Given the description of an element on the screen output the (x, y) to click on. 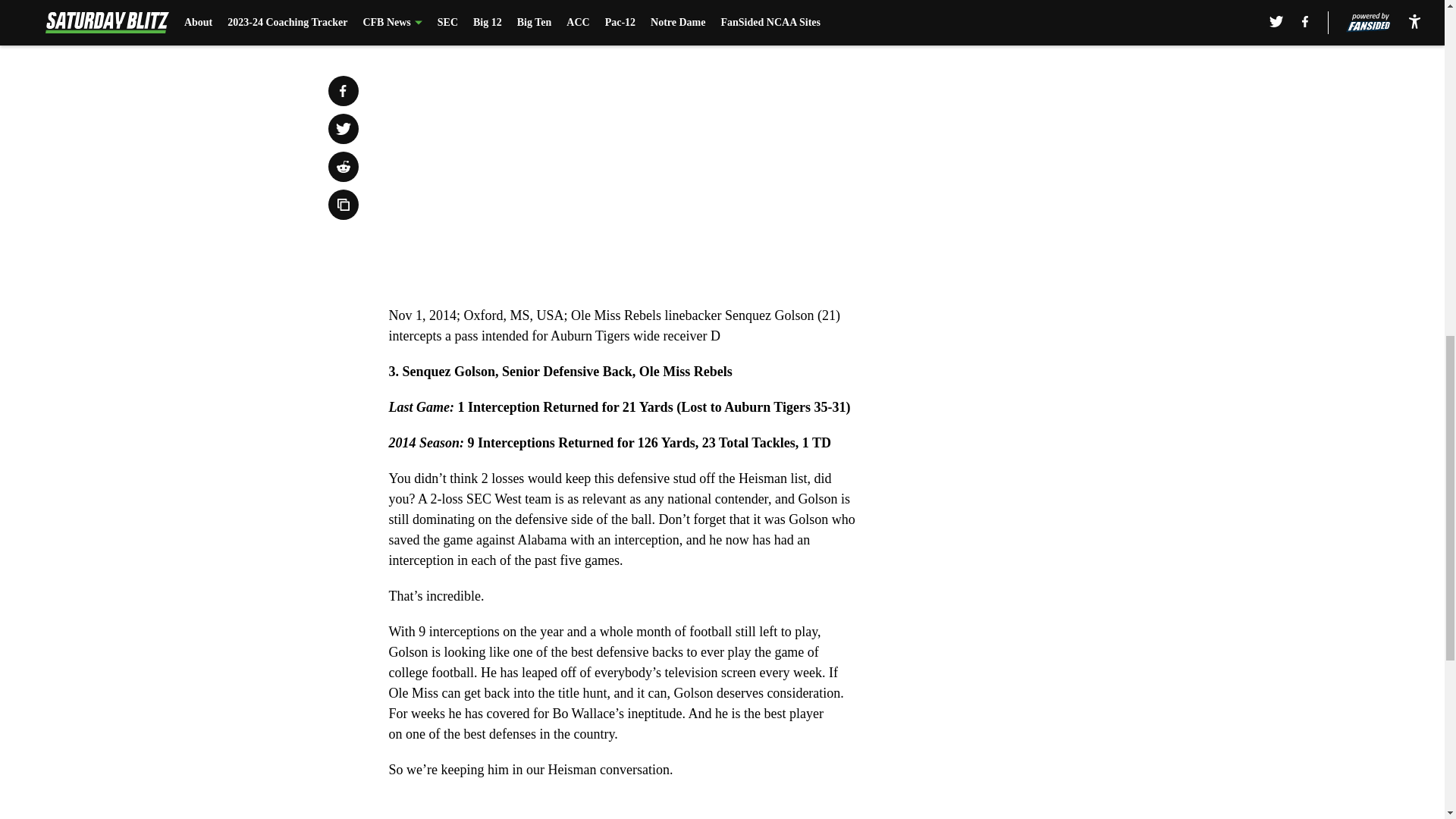
Next (813, 5)
Prev (433, 5)
